Given the description of an element on the screen output the (x, y) to click on. 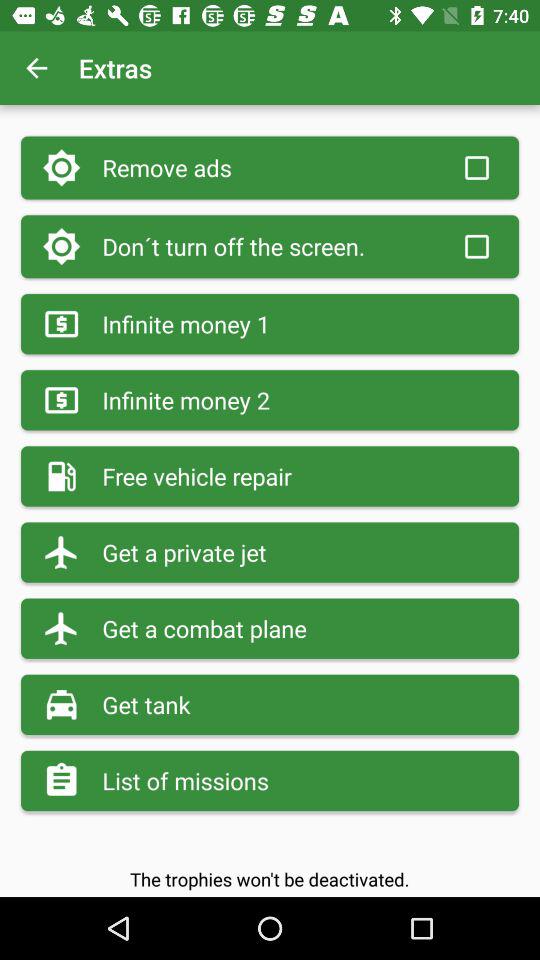
mark the sele (477, 246)
